Given the description of an element on the screen output the (x, y) to click on. 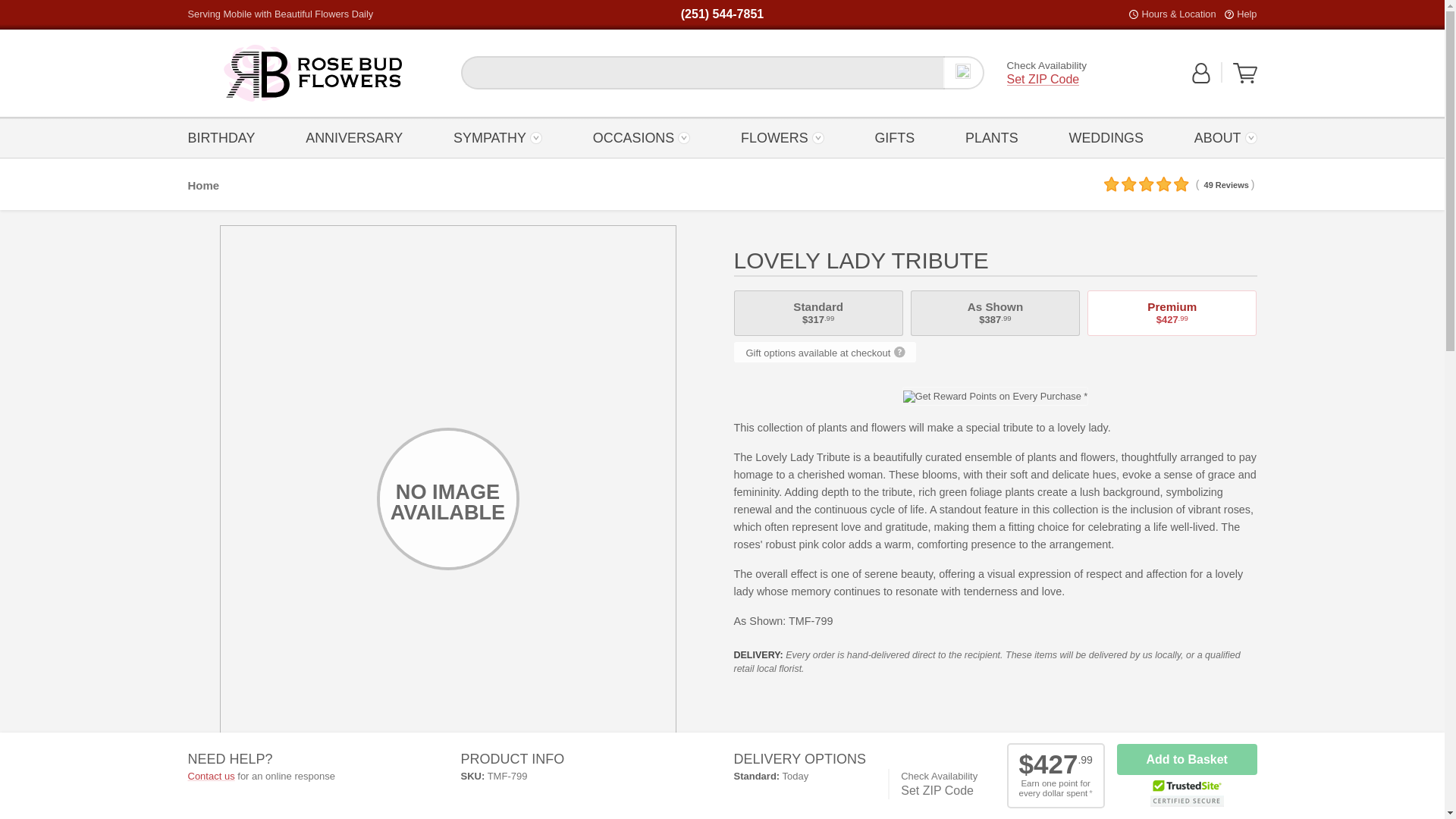
OCCASIONS (312, 73)
Help (641, 137)
Rose Bud Flowers Logo (1246, 13)
SYMPATHY (312, 73)
View Your Shopping Cart (497, 137)
View Your Shopping Cart (1245, 80)
Search (1245, 73)
ANNIVERSARY (963, 72)
Set ZIP Code (353, 137)
Back to the Home Page (1043, 79)
BIRTHDAY (312, 73)
